Given the description of an element on the screen output the (x, y) to click on. 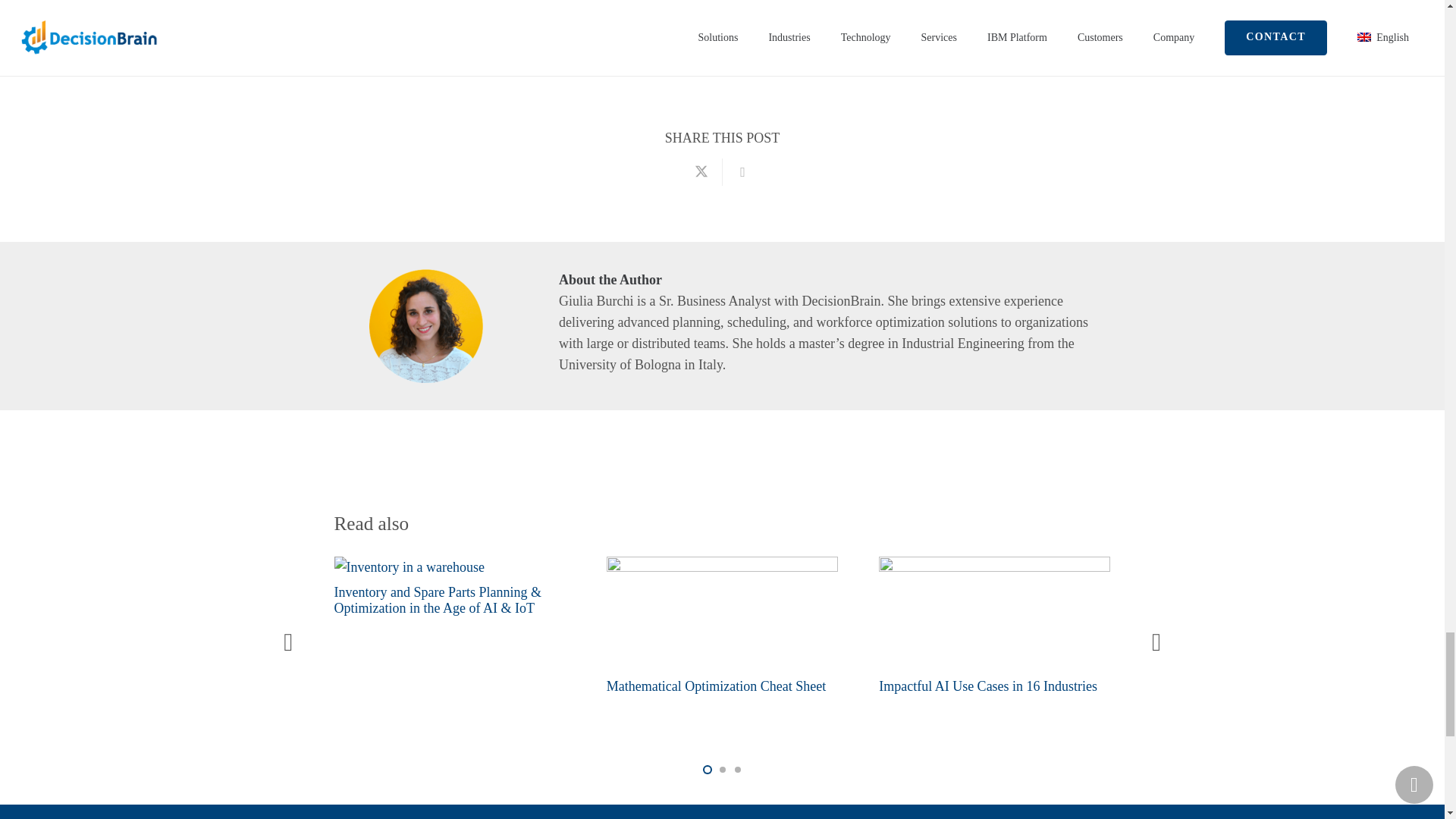
Share this (742, 171)
Tweet this (701, 171)
